Given the description of an element on the screen output the (x, y) to click on. 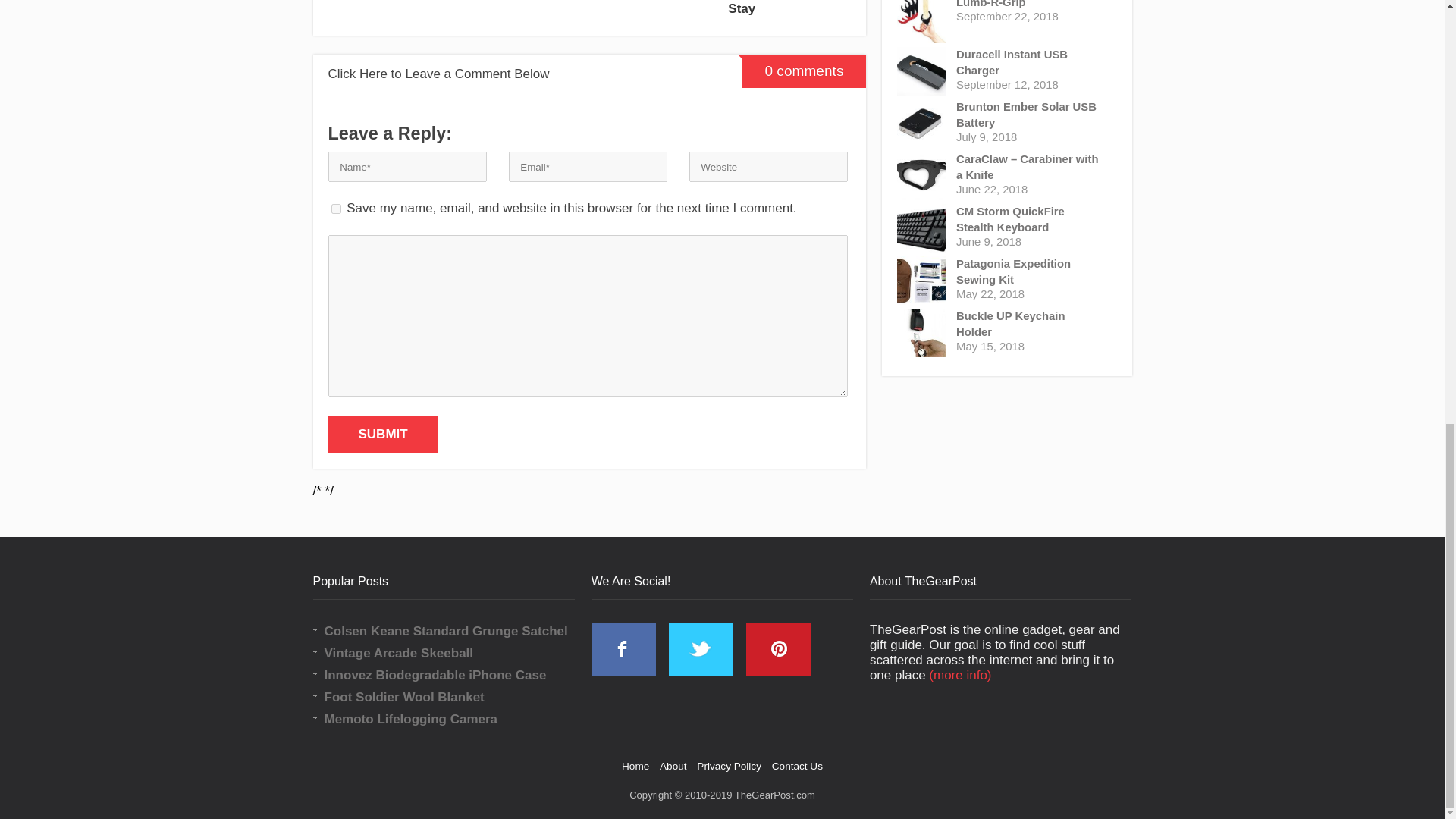
SUBMIT (382, 434)
Foot Soldier Wool Blanket (455, 697)
Lumb-R-Grip (1029, 5)
Colsen Keane Standard Grunge Satchel (455, 631)
Duracell Instant USB Charger (1029, 62)
Exuvius Titanium Multi Tool Collar Stay (789, 10)
Buckle UP Keychain Holder (1029, 324)
Innovez Biodegradable iPhone Case (455, 675)
Patagonia Expedition Sewing Kit (1029, 272)
CM Storm QuickFire Stealth Keyboard (1029, 219)
Vintage Arcade Skeeball (455, 653)
SUBMIT (382, 434)
Brunton Ember Solar USB Battery (1029, 115)
yes (335, 208)
